Given the description of an element on the screen output the (x, y) to click on. 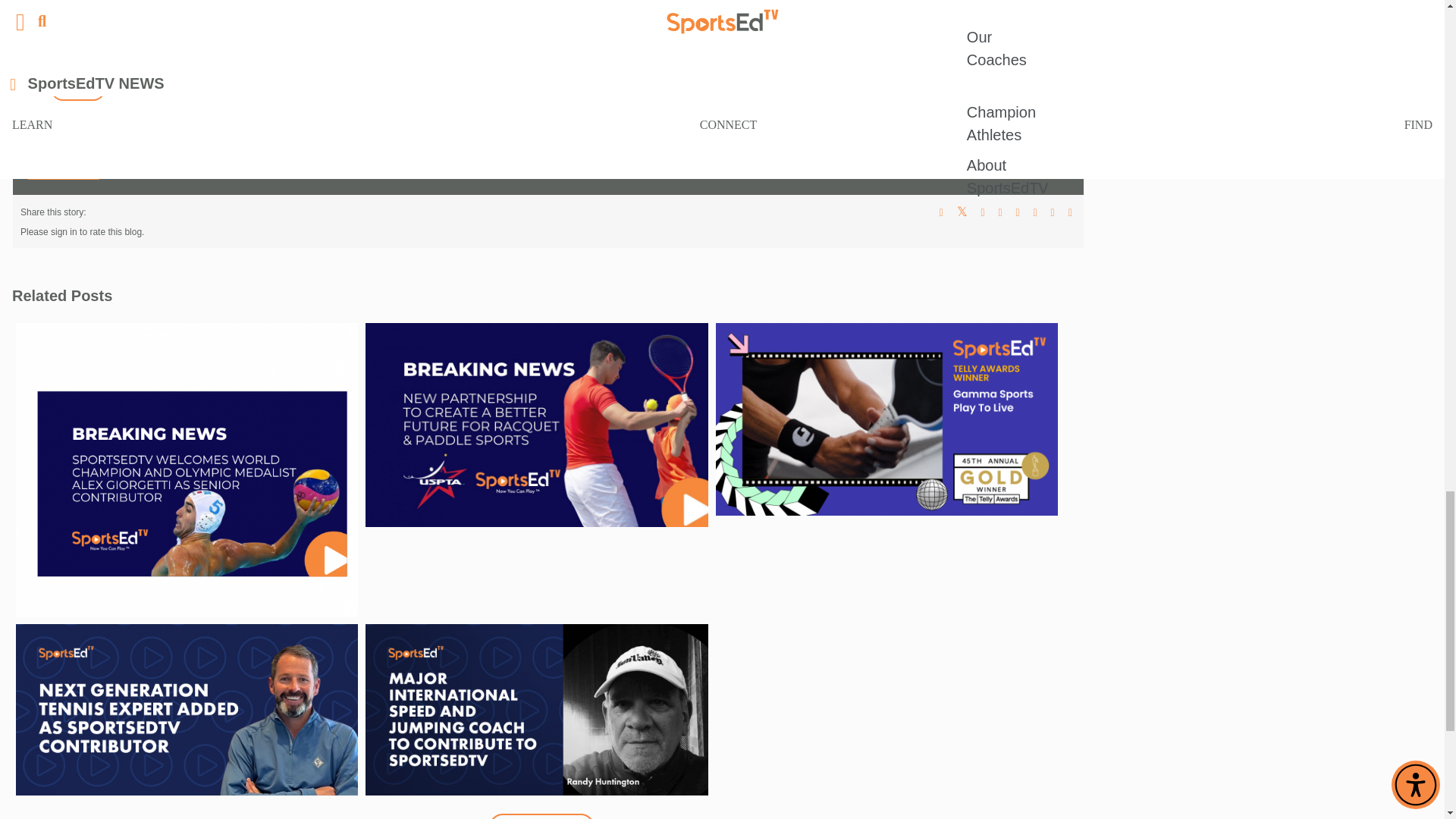
SportsEdTV (1018, 21)
sportsedtv (548, 143)
